Given the description of an element on the screen output the (x, y) to click on. 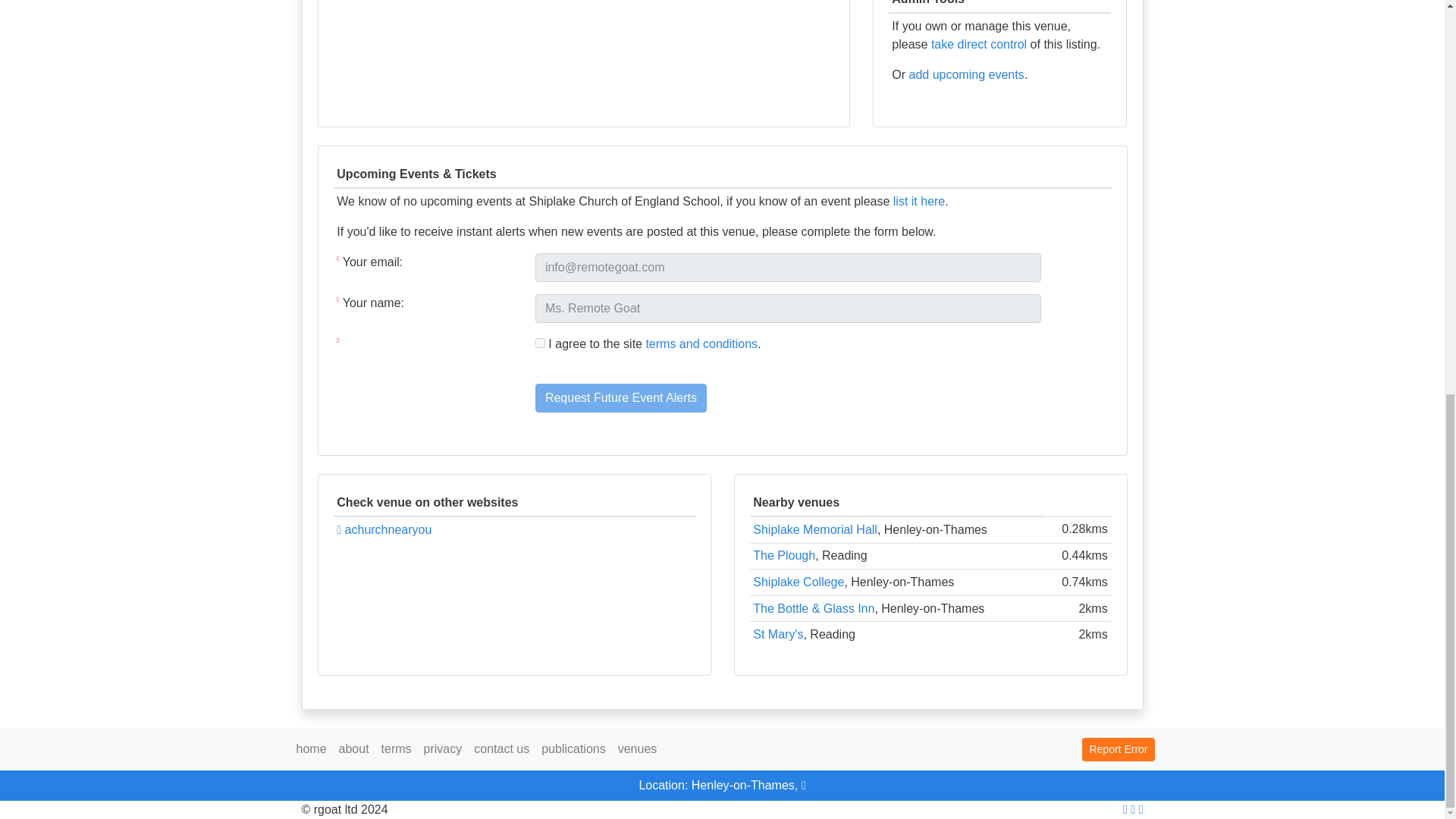
venues (637, 748)
list it here (918, 201)
take direct control (978, 42)
home (310, 748)
Report Error (1117, 749)
1 (539, 343)
about (354, 748)
terms (396, 748)
list new event (918, 201)
list new event (966, 73)
